Given the description of an element on the screen output the (x, y) to click on. 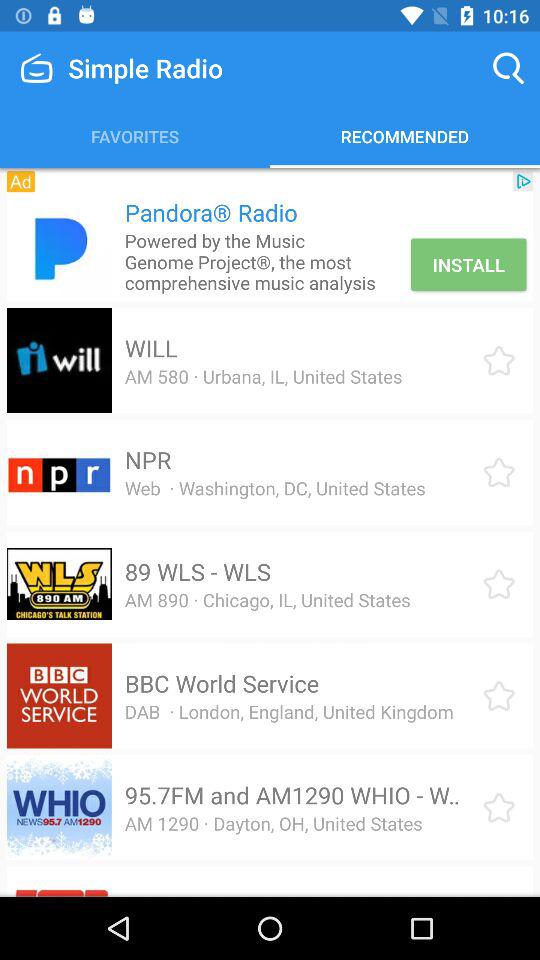
open the item next to powered by the item (468, 264)
